Given the description of an element on the screen output the (x, y) to click on. 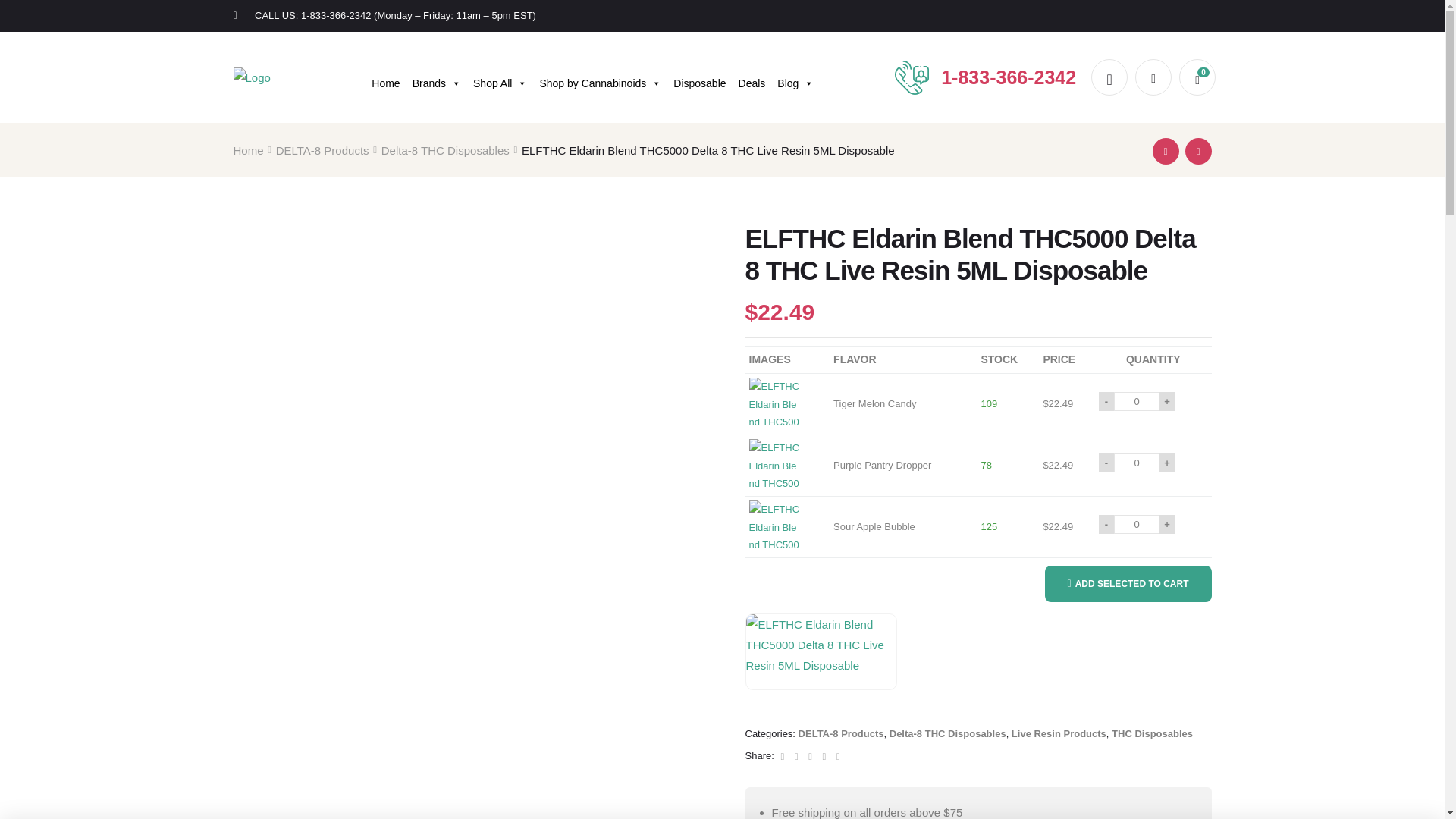
Share on facebook (783, 754)
0 (1135, 401)
Brands (436, 77)
0 (1135, 462)
View your shopping cart (1197, 76)
Qty (1135, 462)
Qty (1135, 401)
Home (385, 77)
